Given the description of an element on the screen output the (x, y) to click on. 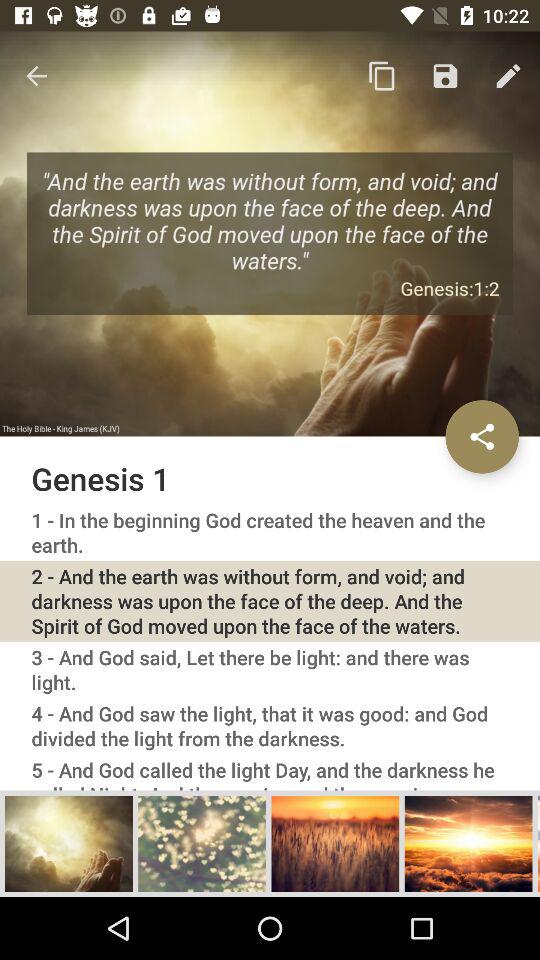
select image (468, 843)
